Given the description of an element on the screen output the (x, y) to click on. 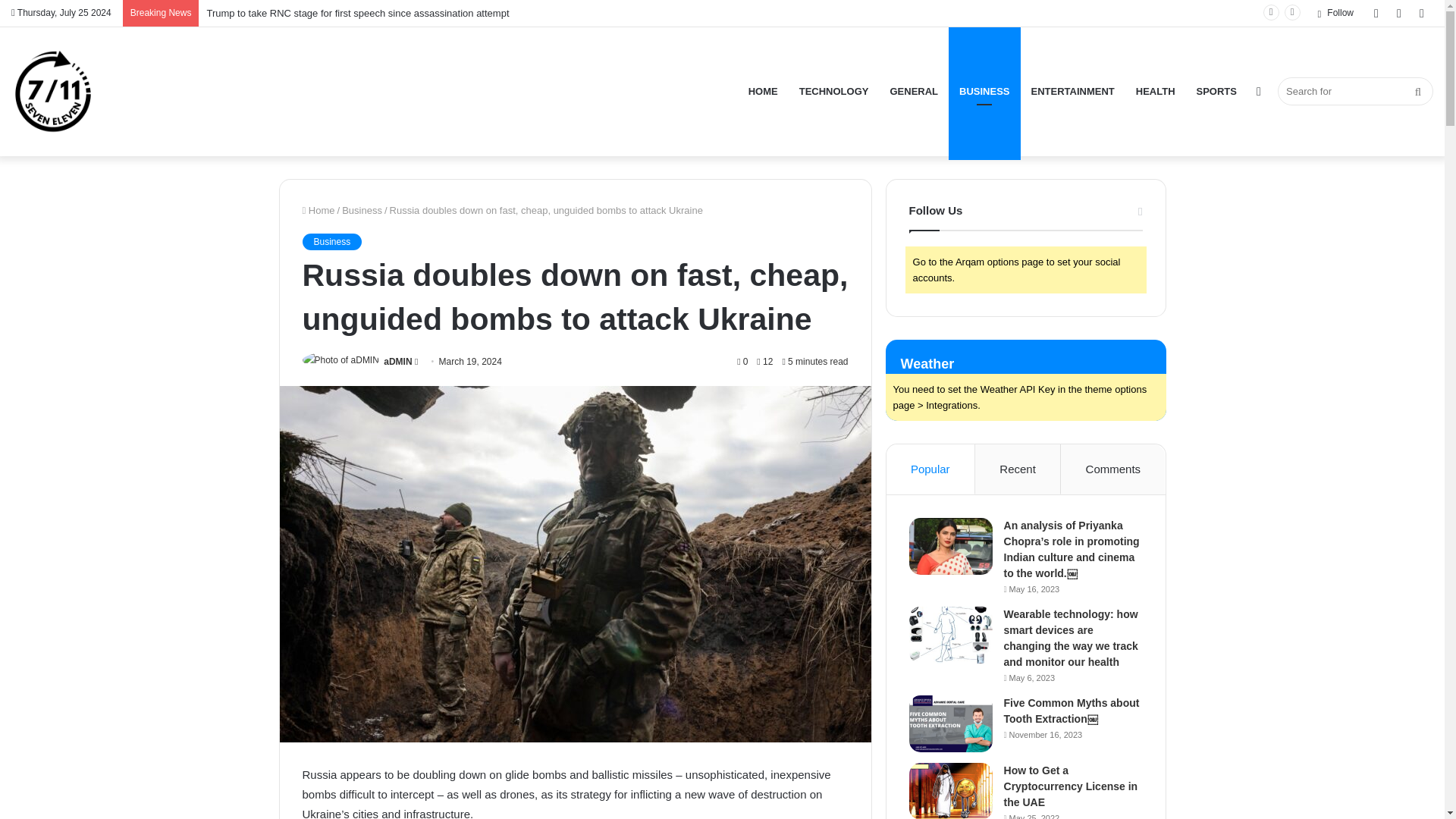
Follow (1335, 13)
Business (361, 210)
Seven Eleven Stores Dubai (52, 91)
aDMIN (398, 361)
Home (317, 210)
Business (331, 241)
aDMIN (398, 361)
Search for (1355, 90)
